Given the description of an element on the screen output the (x, y) to click on. 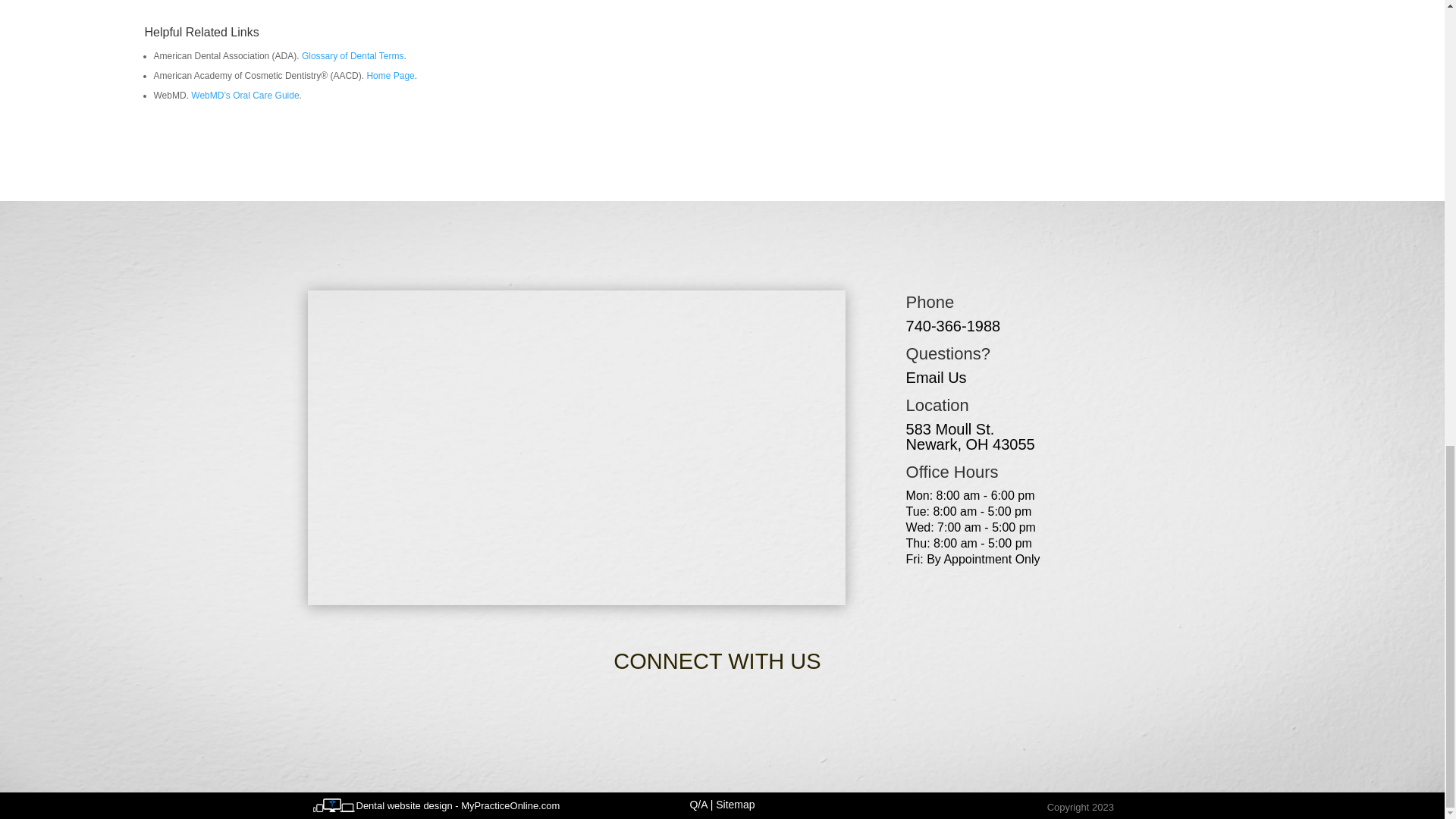
Email Us (935, 377)
Dental website design - MyPracticeOnline.com (458, 805)
Sitemap (970, 436)
Home Page (735, 804)
740-366-1988 (389, 75)
Glossary of Dental Terms (953, 325)
